Given the description of an element on the screen output the (x, y) to click on. 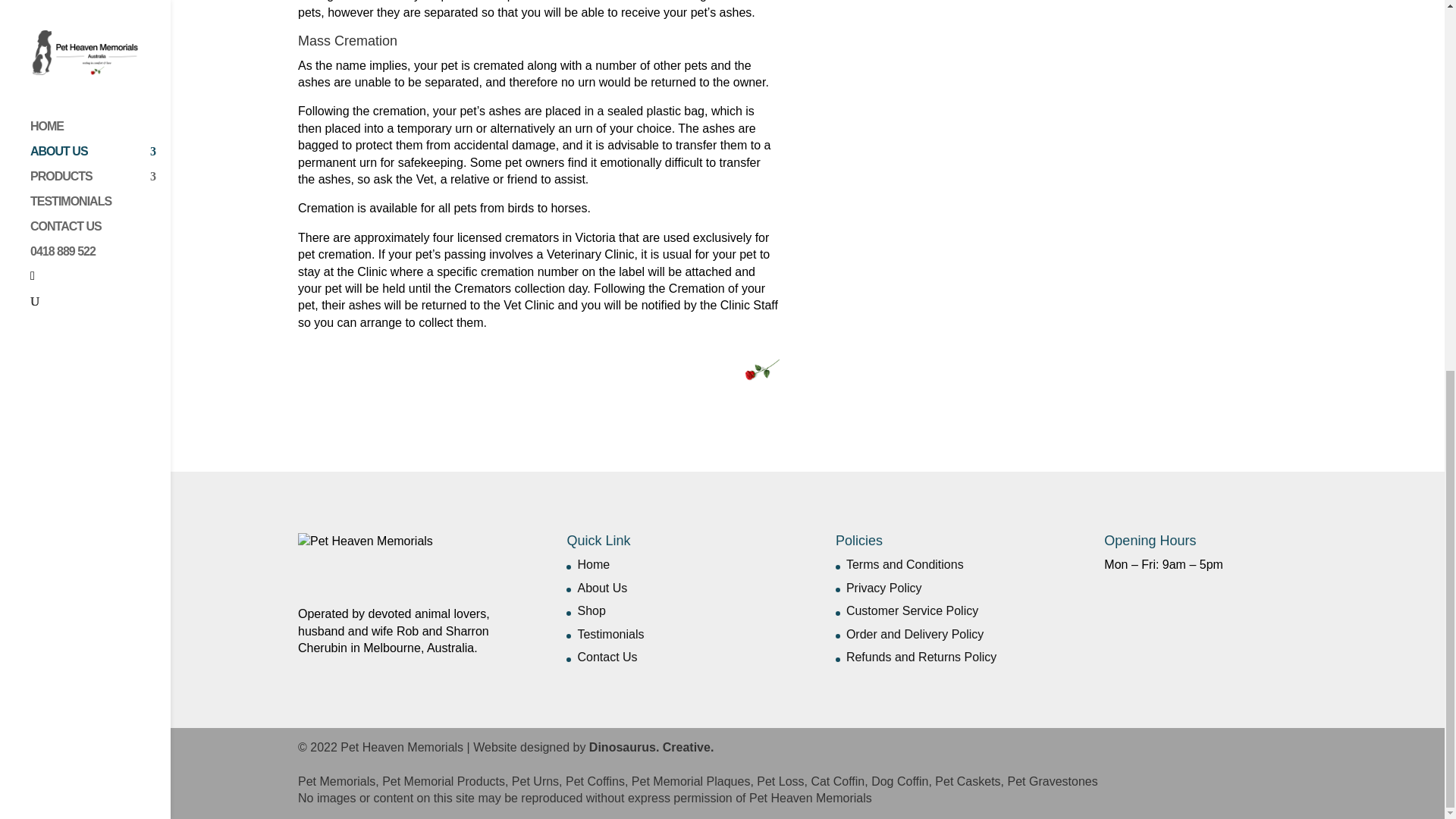
pet-heaven-memorials-rose-red-sml (761, 369)
Home (593, 563)
About Us (601, 587)
Customer Service Policy (911, 610)
Terms and Conditions (904, 563)
Testimonials (609, 634)
Privacy Policy (883, 587)
Contact Us (606, 656)
Shop (590, 610)
